Given the description of an element on the screen output the (x, y) to click on. 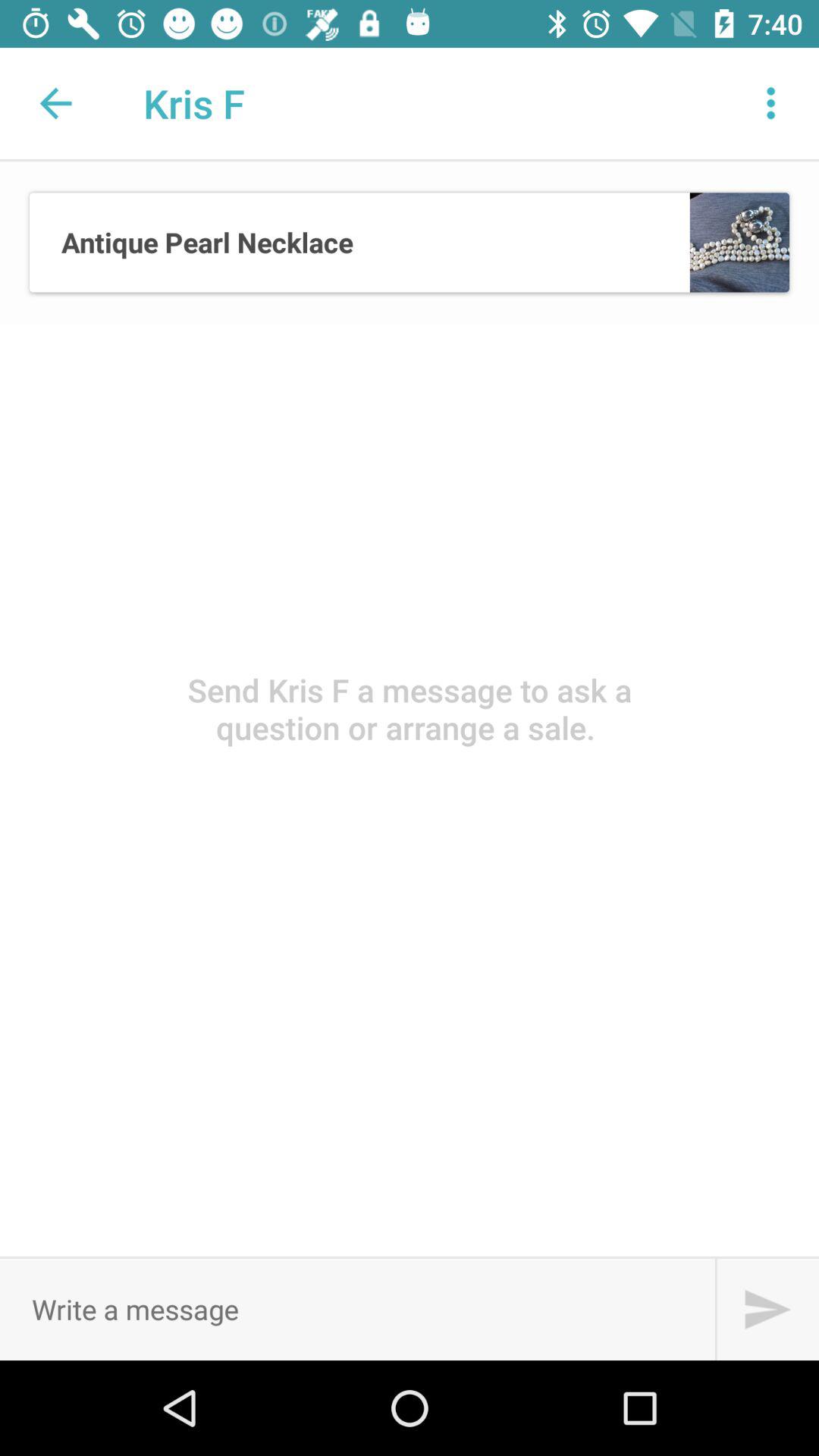
typeing box (357, 1308)
